Given the description of an element on the screen output the (x, y) to click on. 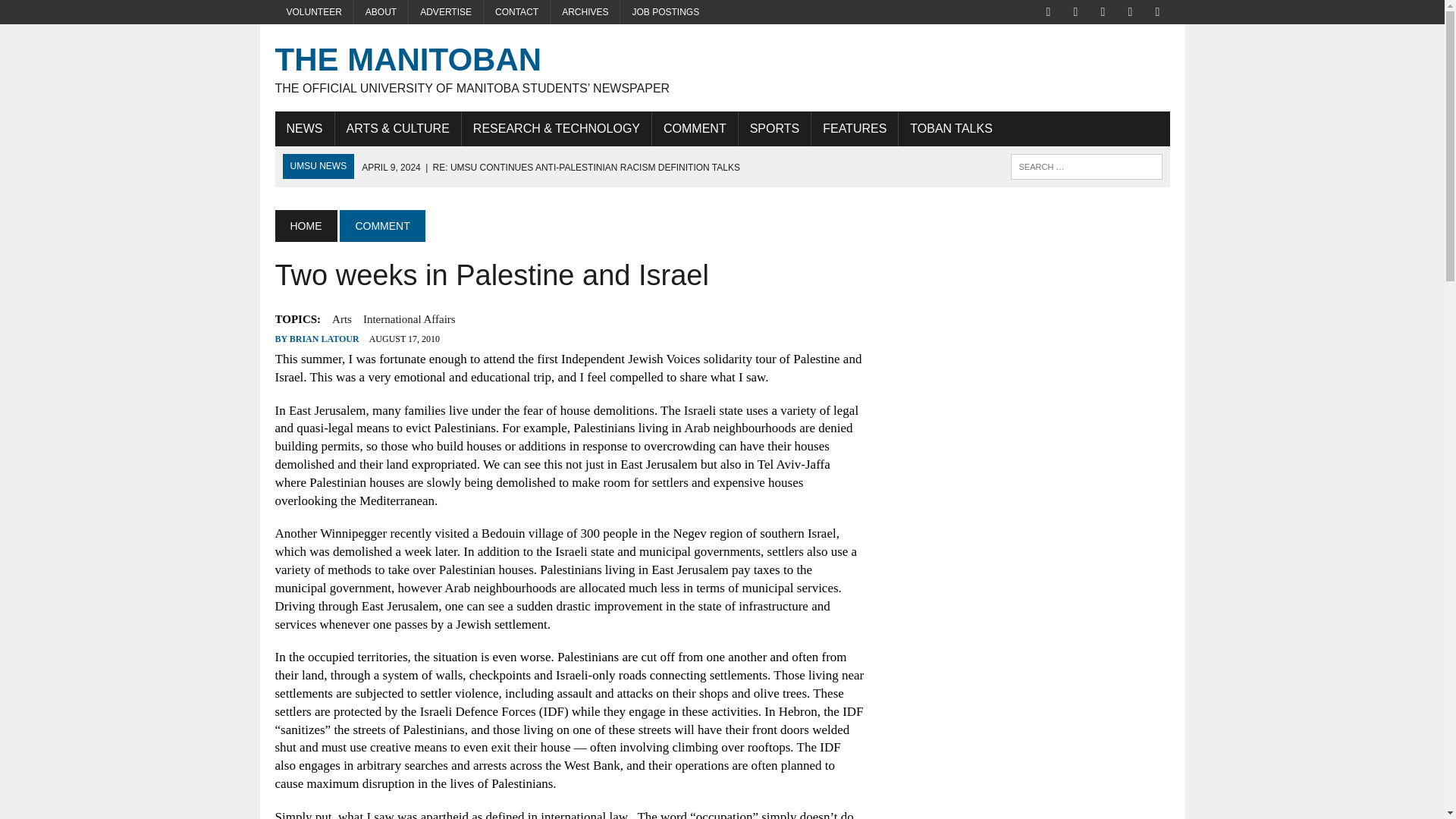
HOME (305, 225)
FEATURES (854, 128)
COMMENT (695, 128)
CONTACT (516, 12)
Search (75, 14)
VOLUNTEER (313, 12)
ADVERTISE (446, 12)
Re: UMSU continues anti-Palestinian racism definition talks (550, 167)
The Manitoban (722, 67)
JOB POSTINGS (665, 12)
COMMENT (382, 225)
TOBAN TALKS (950, 128)
ARCHIVES (585, 12)
ABOUT (380, 12)
SPORTS (774, 128)
